Given the description of an element on the screen output the (x, y) to click on. 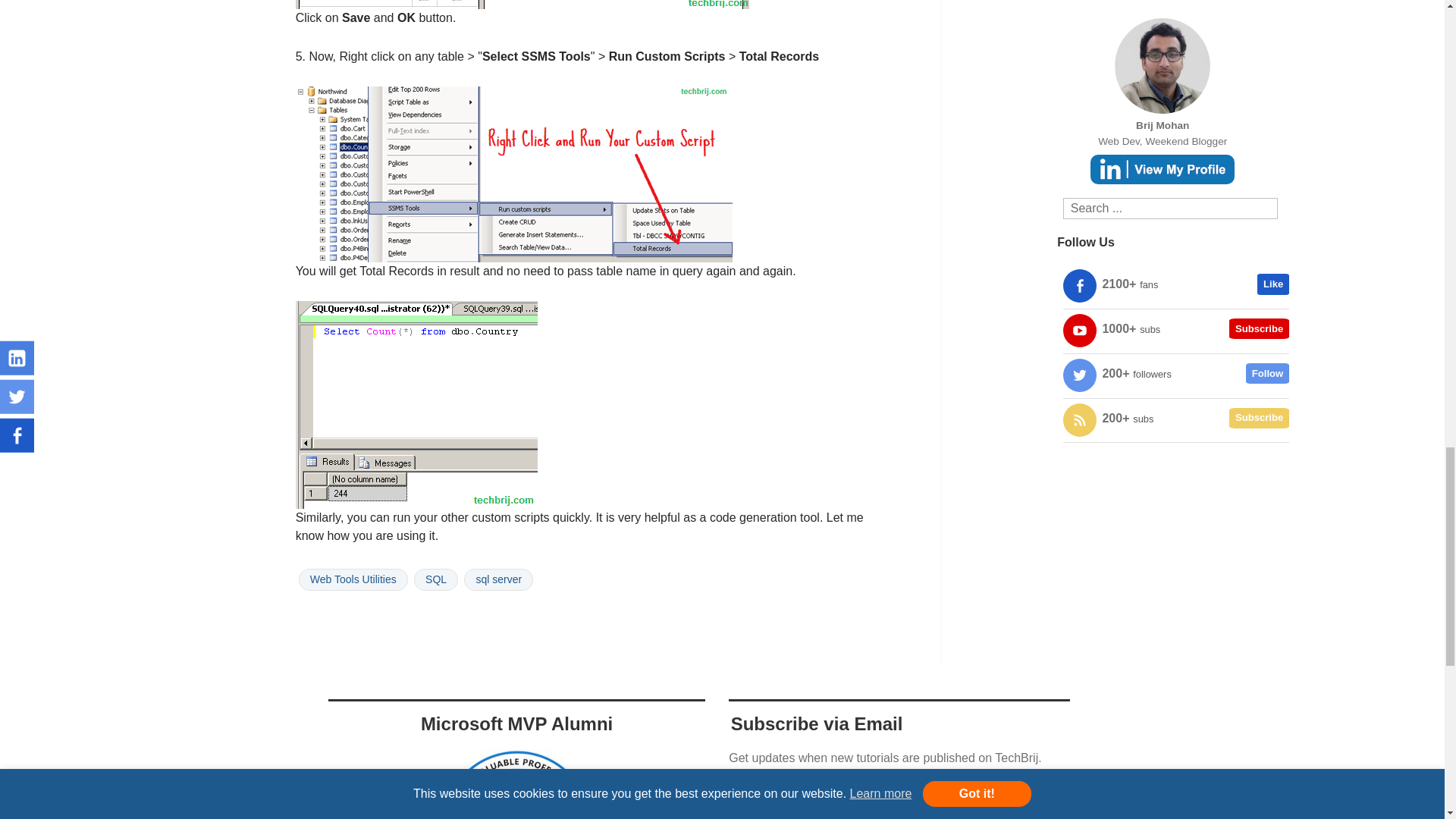
sql server (498, 579)
Your Email (899, 811)
Web Tools Utilities (352, 579)
SQL (435, 579)
